Given the description of an element on the screen output the (x, y) to click on. 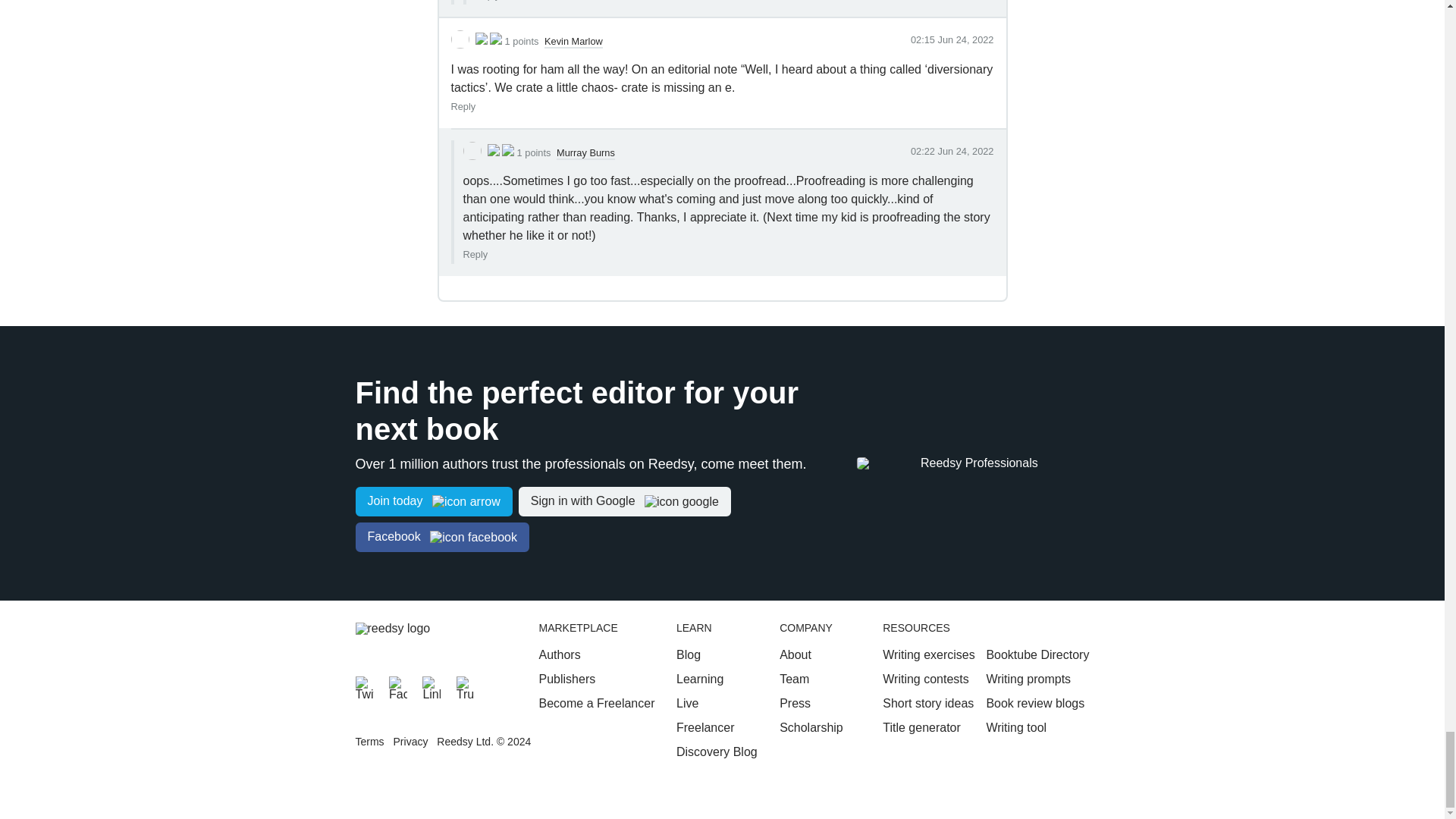
Trustpilot (465, 685)
Facebook (397, 685)
Sign in with Google (624, 501)
Sign in with Facebook (441, 537)
Twitter (363, 685)
Sign up (433, 501)
LinkedIn (431, 685)
